Given the description of an element on the screen output the (x, y) to click on. 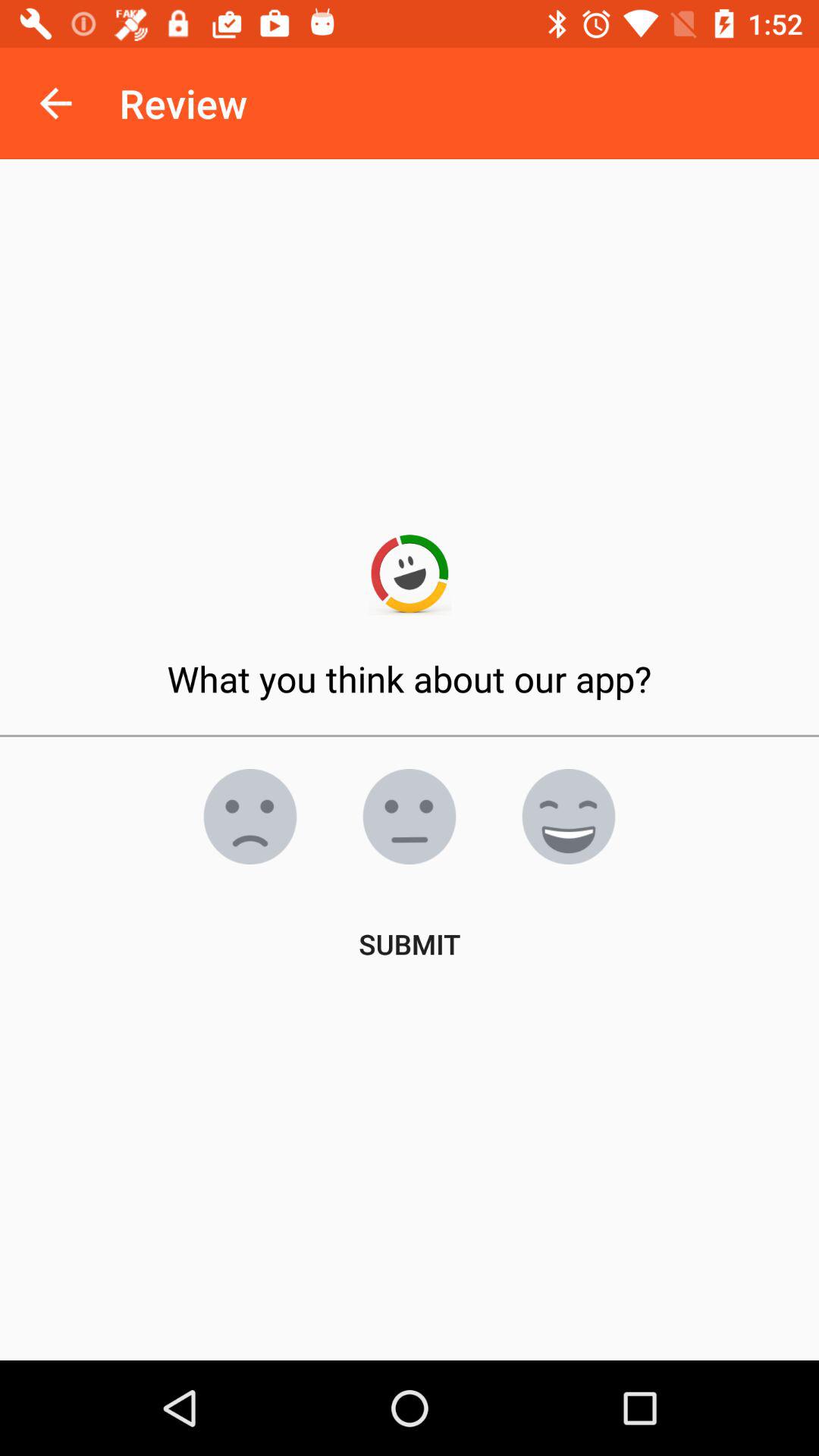
swipe to submit item (409, 943)
